Given the description of an element on the screen output the (x, y) to click on. 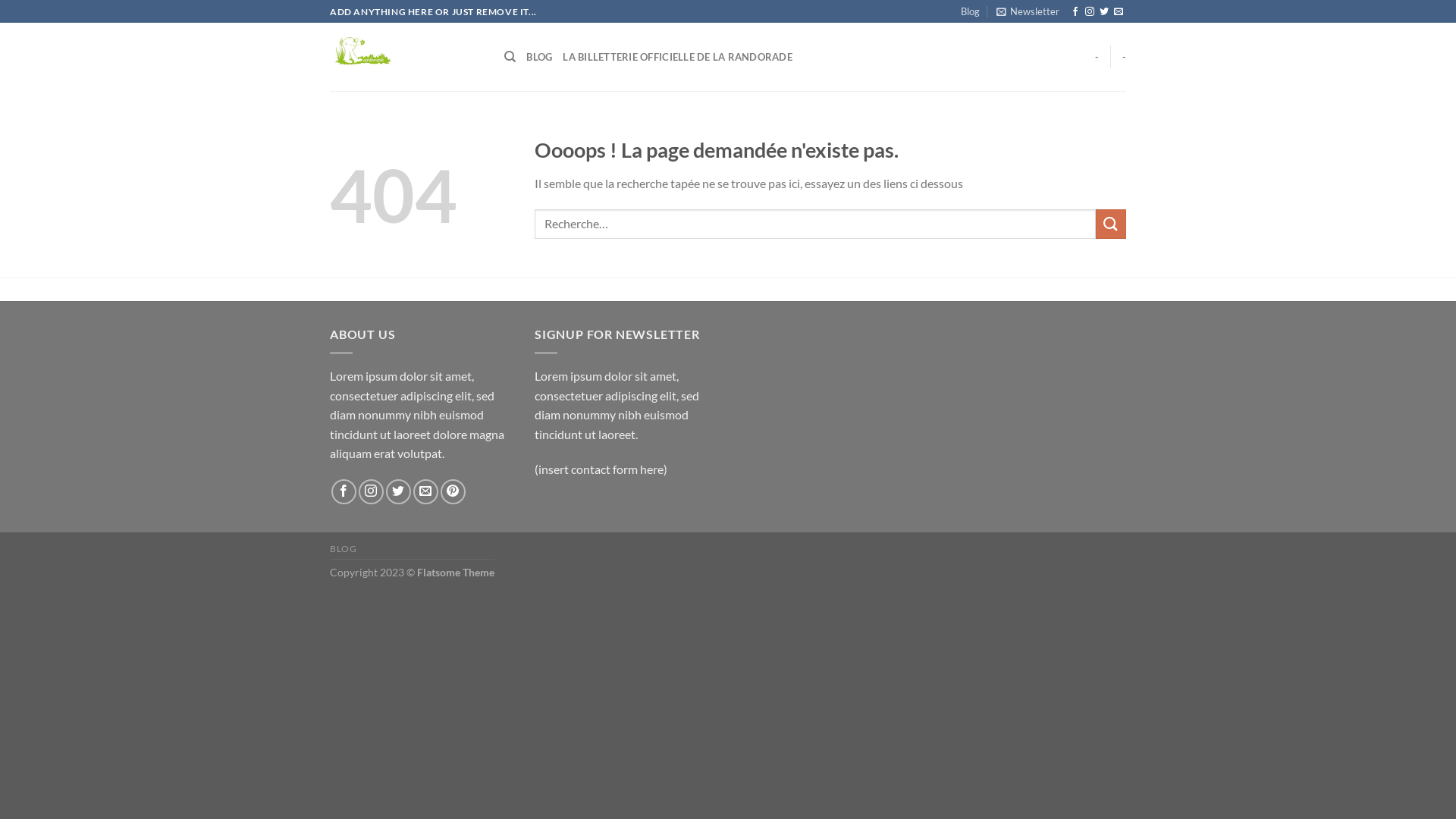
Newsletter Element type: text (1027, 11)
Nous envoyer un email Element type: hover (425, 491)
Nous suivre sur Pinterest Element type: hover (452, 491)
BLOG Element type: text (342, 548)
Nous envoyer un email Element type: hover (1118, 11)
- Element type: text (1096, 56)
Blog Element type: text (969, 11)
Nous suivre sur Twitter Element type: hover (398, 491)
Nous suivre sur Facebook Element type: hover (1074, 11)
Nous suivre sur Instagram Element type: hover (370, 491)
Nous suivre sur Facebook Element type: hover (343, 491)
Nous suivre sur Instagram Element type: hover (1089, 11)
- Element type: text (1124, 56)
Billeterie - La Billetterie officielle de la Randorade Element type: hover (405, 56)
Nous suivre sur Twitter Element type: hover (1103, 11)
LA BILLETTERIE OFFICIELLE DE LA RANDORADE Element type: text (677, 56)
BLOG Element type: text (539, 56)
